Given the description of an element on the screen output the (x, y) to click on. 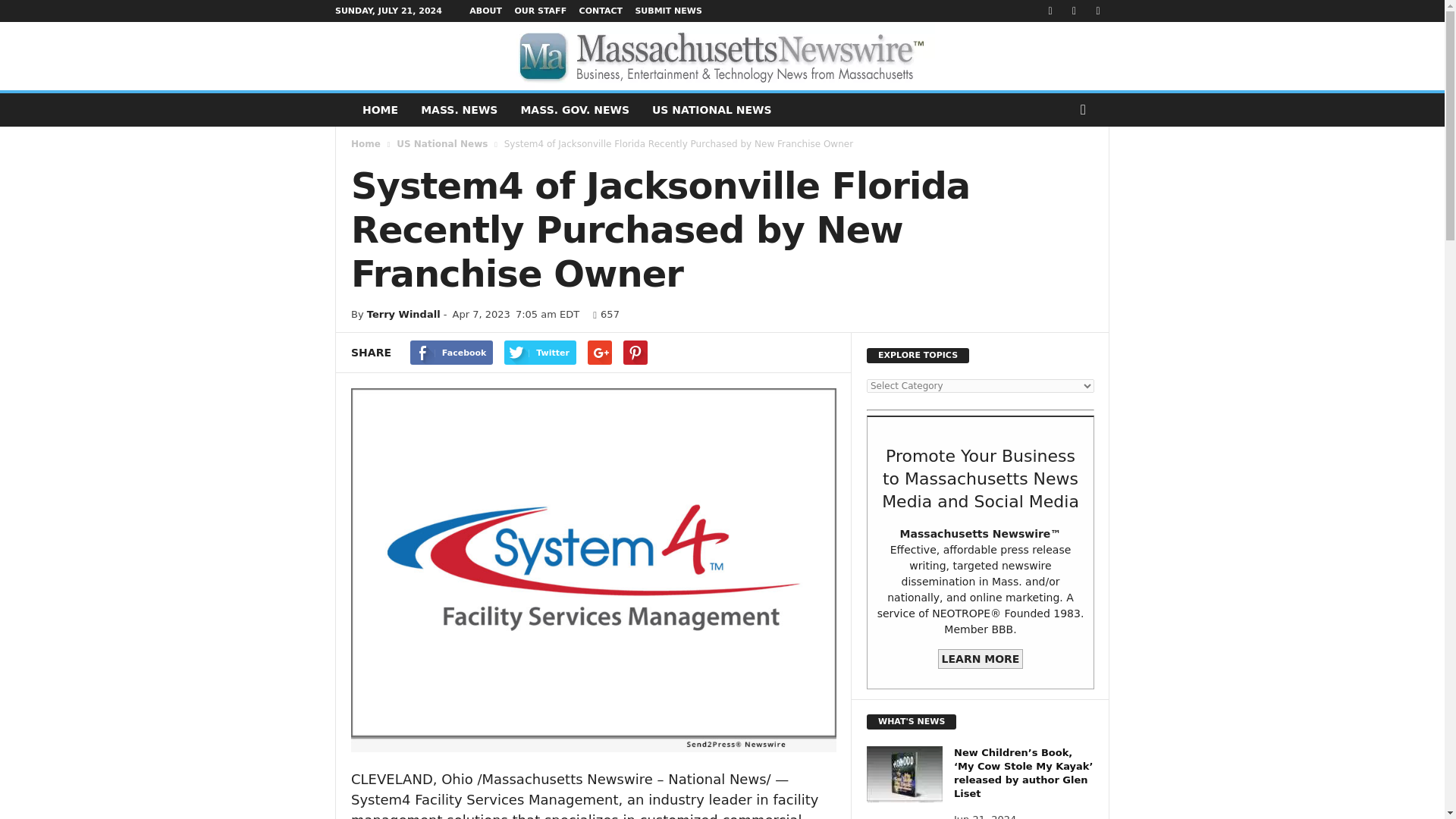
Massachusetts Newswire (721, 56)
MASS. NEWS (458, 109)
US National News (441, 143)
CONTACT (601, 10)
Mass. Government News (574, 109)
View all posts in US National News (441, 143)
Facebook (451, 352)
Twitter (539, 352)
Massachusetts News (458, 109)
Home (365, 143)
OUR STAFF (539, 10)
HOME (379, 109)
US NATIONAL NEWS (711, 109)
MASS. GOV. NEWS (574, 109)
Home Page (379, 109)
